Given the description of an element on the screen output the (x, y) to click on. 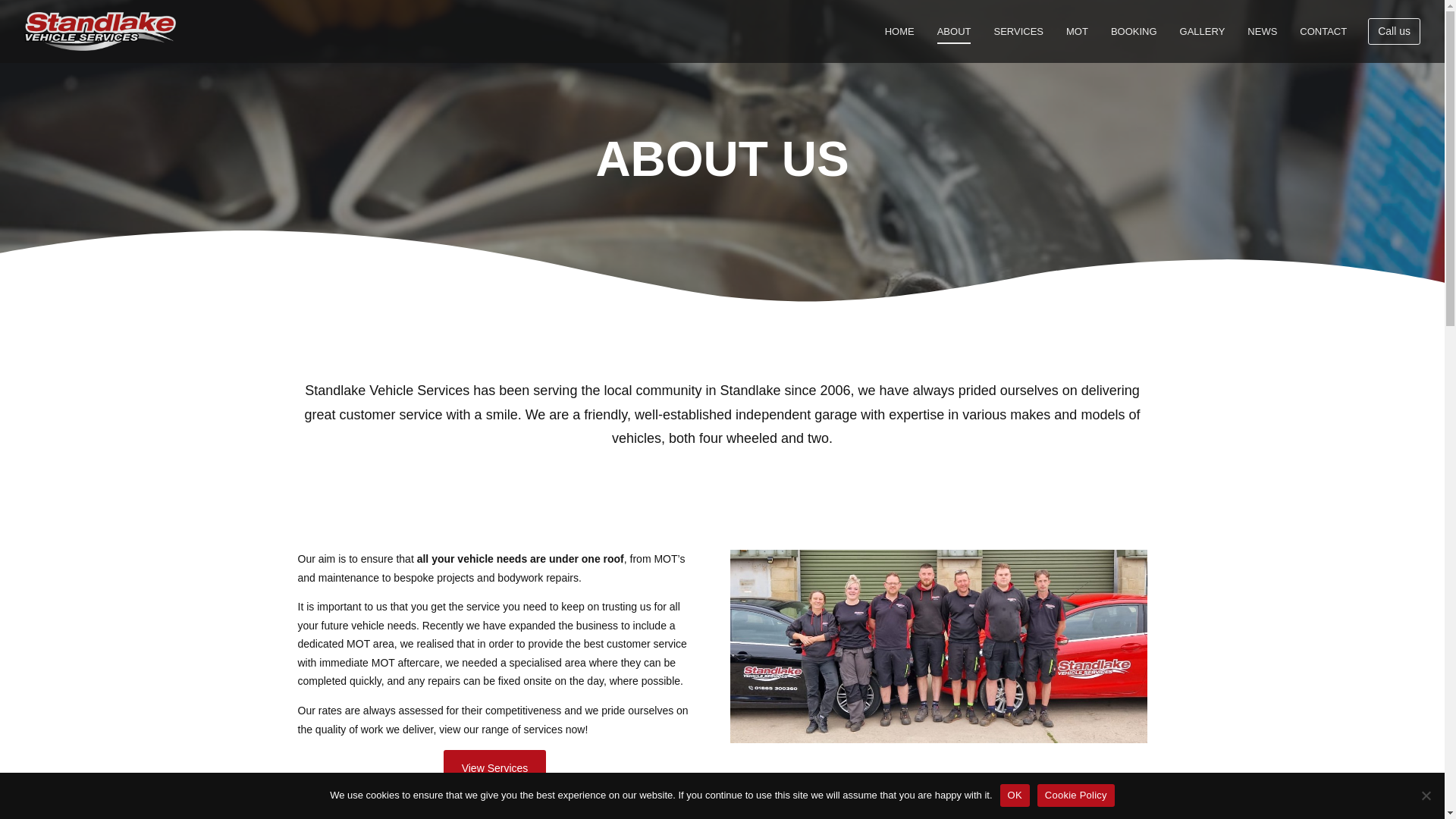
ABOUT (954, 31)
View Services (495, 768)
No (1425, 795)
GALLERY (1202, 31)
CONTACT (1323, 31)
NEWS (1261, 31)
BOOKING (1133, 31)
SERVICES (1017, 31)
Call us (1394, 31)
MOT (1076, 31)
HOME (899, 31)
